Given the description of an element on the screen output the (x, y) to click on. 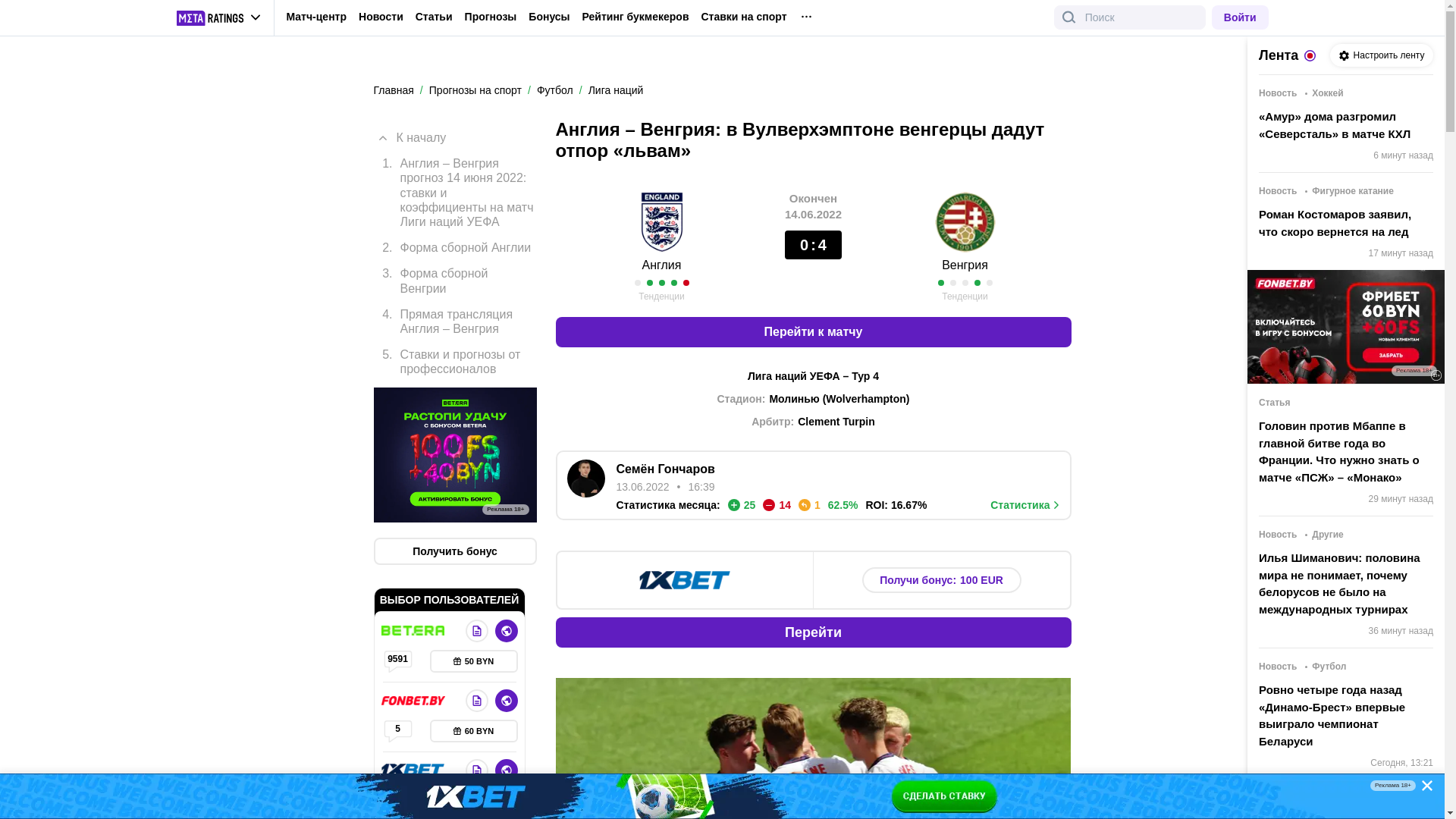
50 BYN Element type: text (473, 660)
5 Element type: text (397, 730)
9591 Element type: text (397, 660)
1160 Element type: text (397, 800)
100 USD Element type: text (473, 800)
60 BYN Element type: text (473, 730)
